Given the description of an element on the screen output the (x, y) to click on. 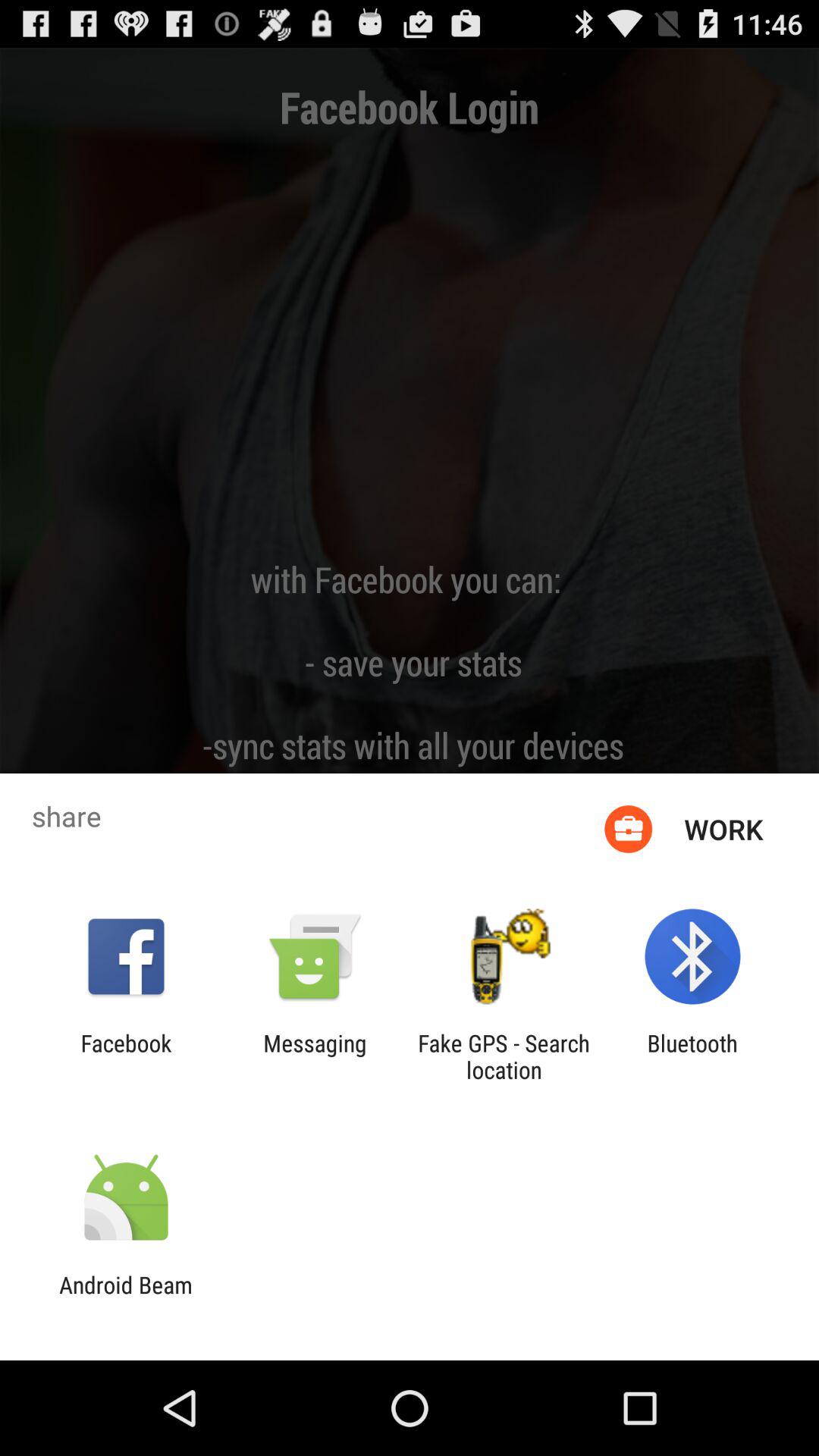
tap app to the right of facebook app (314, 1056)
